Given the description of an element on the screen output the (x, y) to click on. 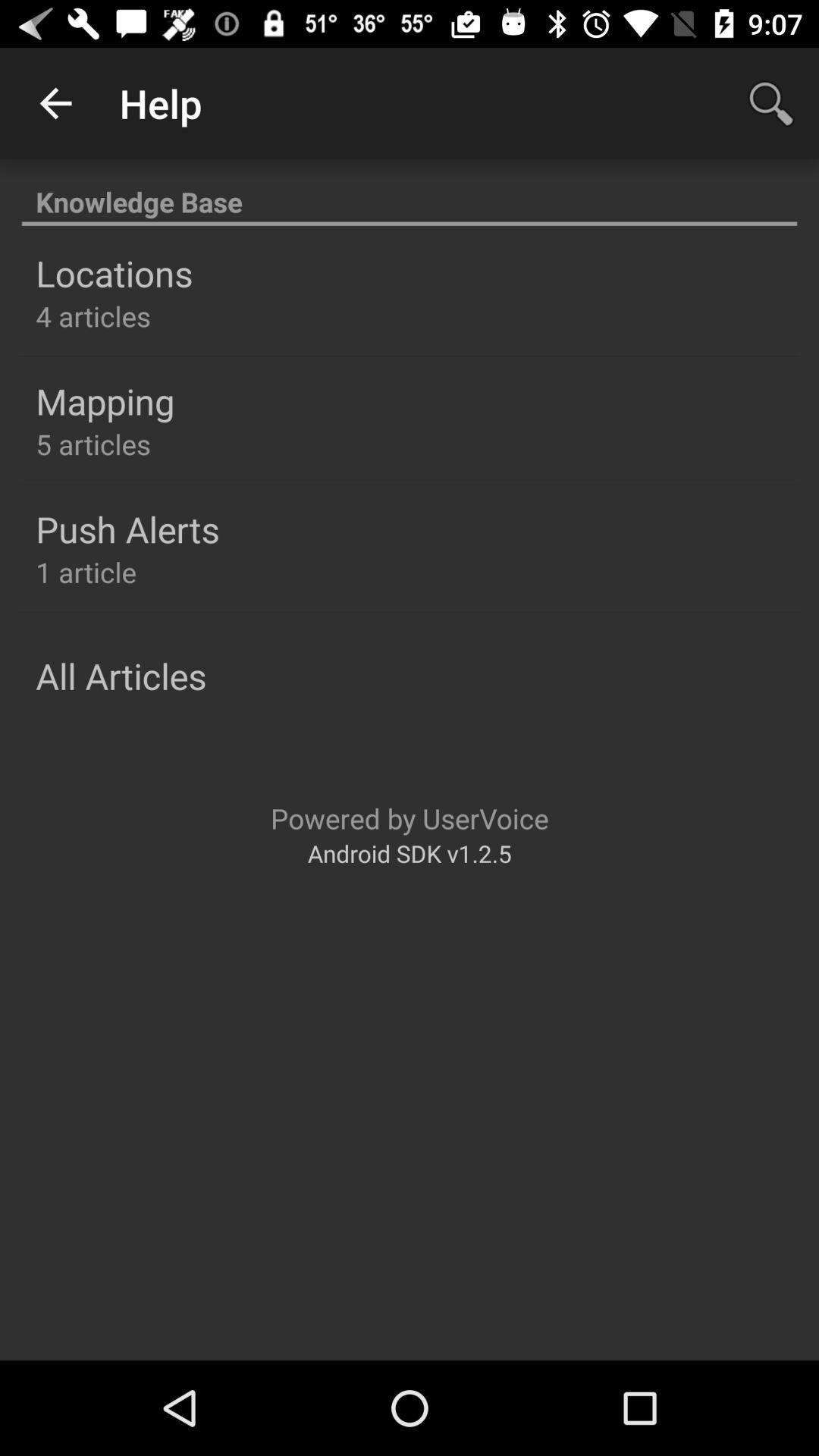
turn on the app next to the help icon (55, 103)
